Given the description of an element on the screen output the (x, y) to click on. 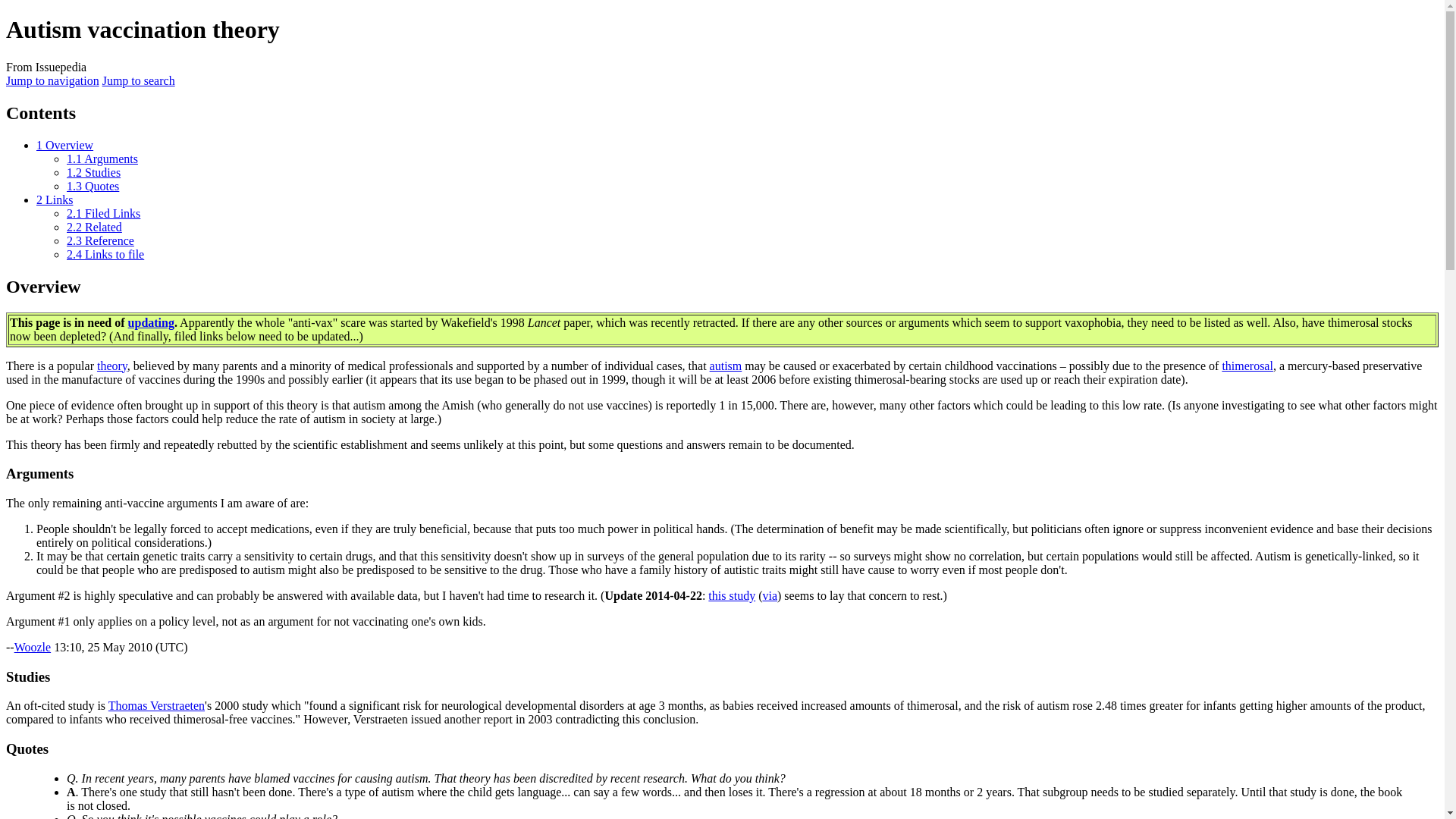
2 Links (54, 199)
this study (731, 594)
Autism (726, 365)
2.4 Links to file (105, 254)
updating (151, 321)
1 Overview (64, 144)
1.2 Studies (93, 172)
Informal theory (112, 365)
wikipedia:Thomas Verstraeten (156, 705)
2.2 Related (94, 226)
wikipedia:thimerosal (1246, 365)
Thomas Verstraeten (156, 705)
thimerosal (1246, 365)
Woozle (32, 646)
theory (112, 365)
